Given the description of an element on the screen output the (x, y) to click on. 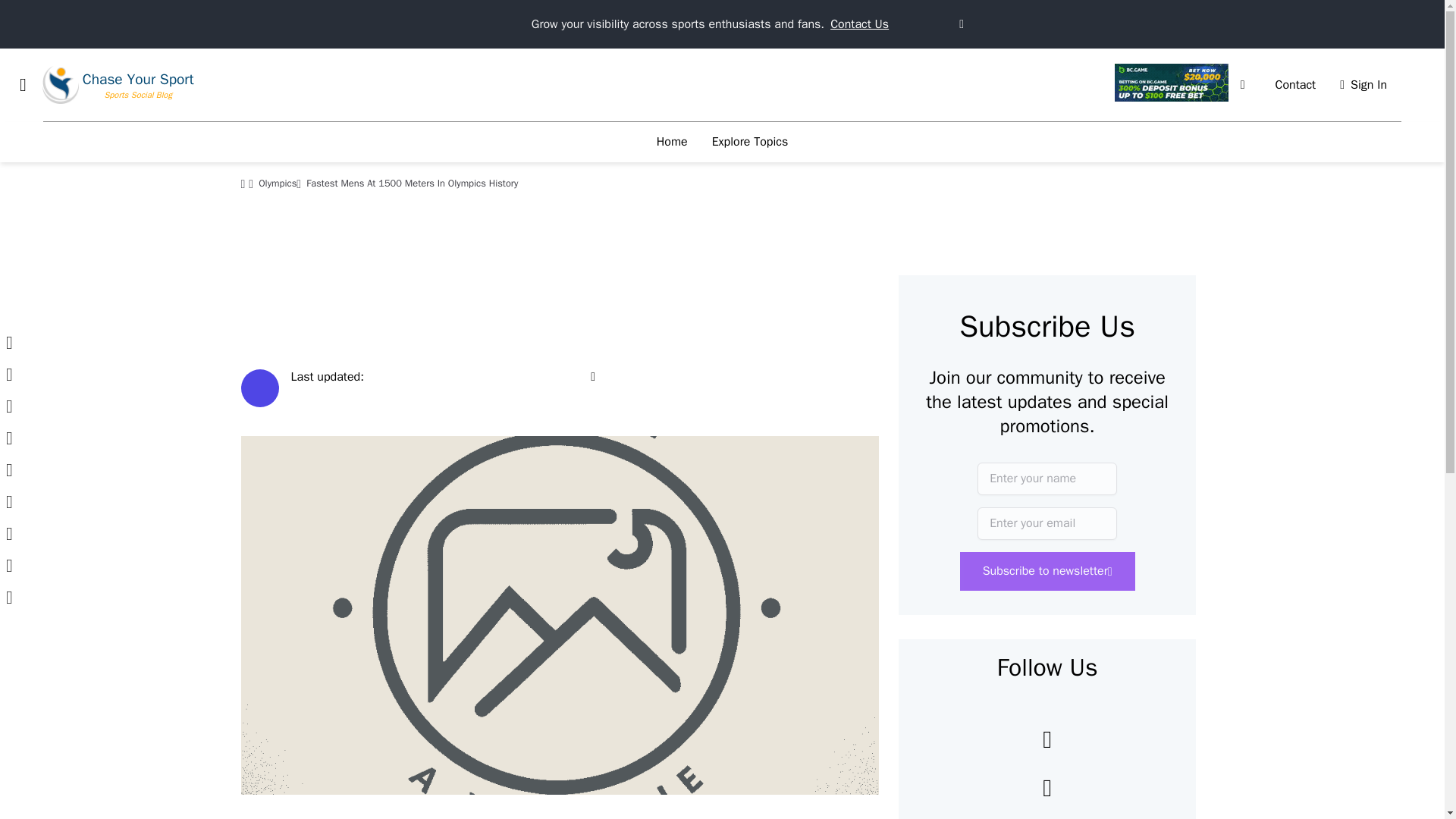
Sign In (1363, 84)
Olympics (278, 183)
Subscribe to newsletter (1047, 571)
Contact Us (858, 24)
Home (672, 141)
Contact (1295, 84)
Explore Topics (750, 141)
